Given the description of an element on the screen output the (x, y) to click on. 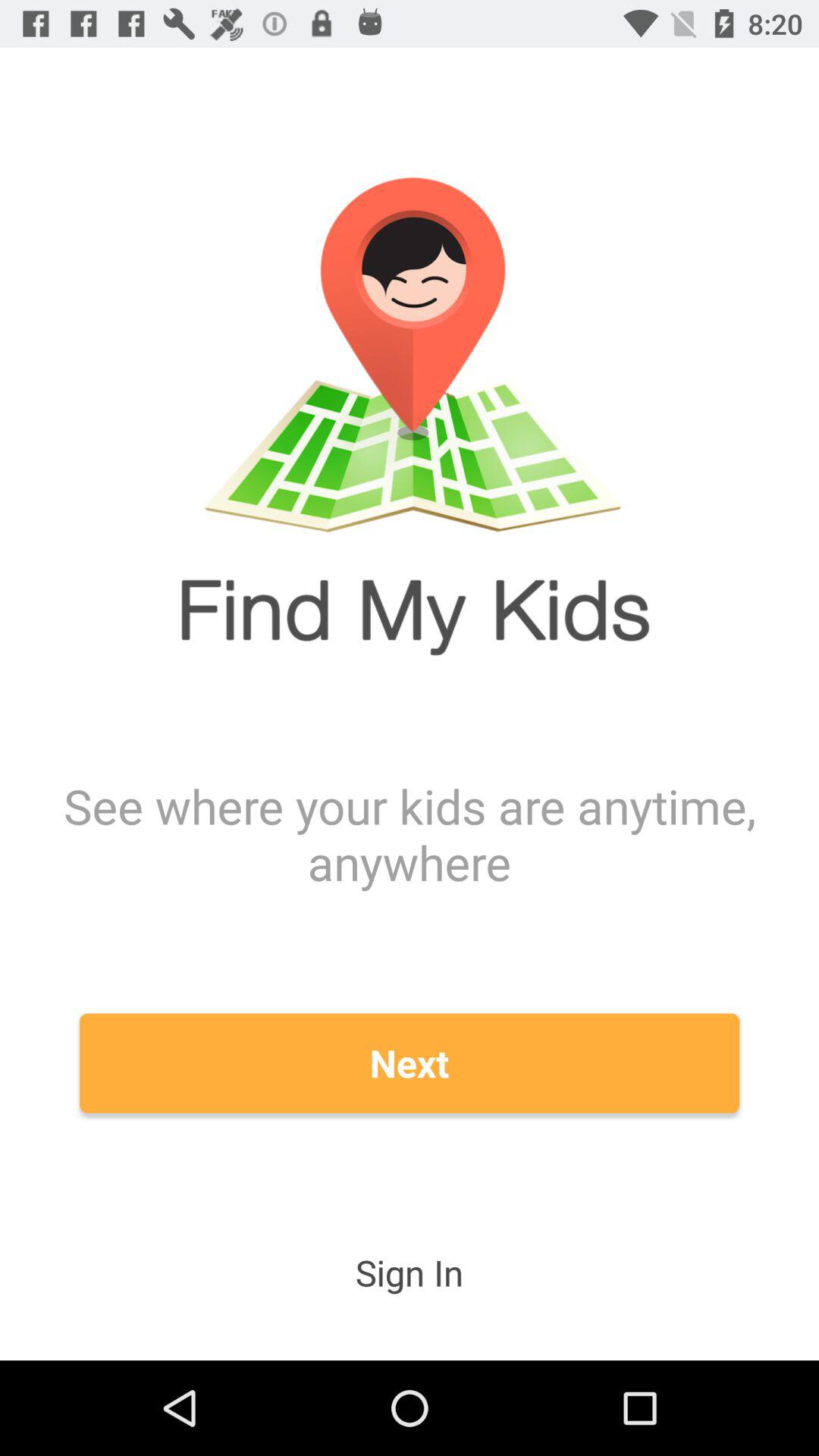
swipe to the next item (409, 1063)
